Given the description of an element on the screen output the (x, y) to click on. 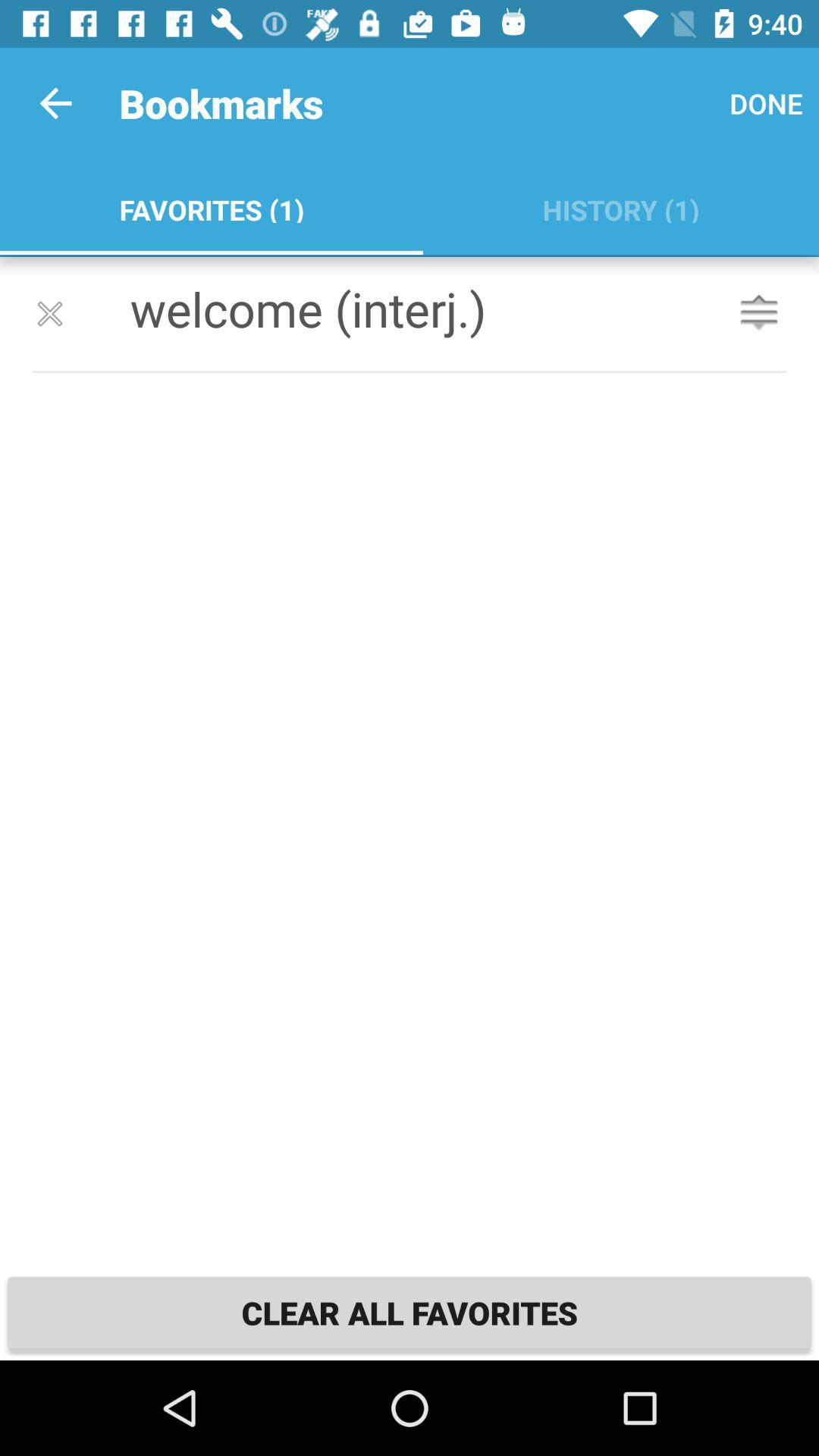
swipe until done icon (766, 103)
